Given the description of an element on the screen output the (x, y) to click on. 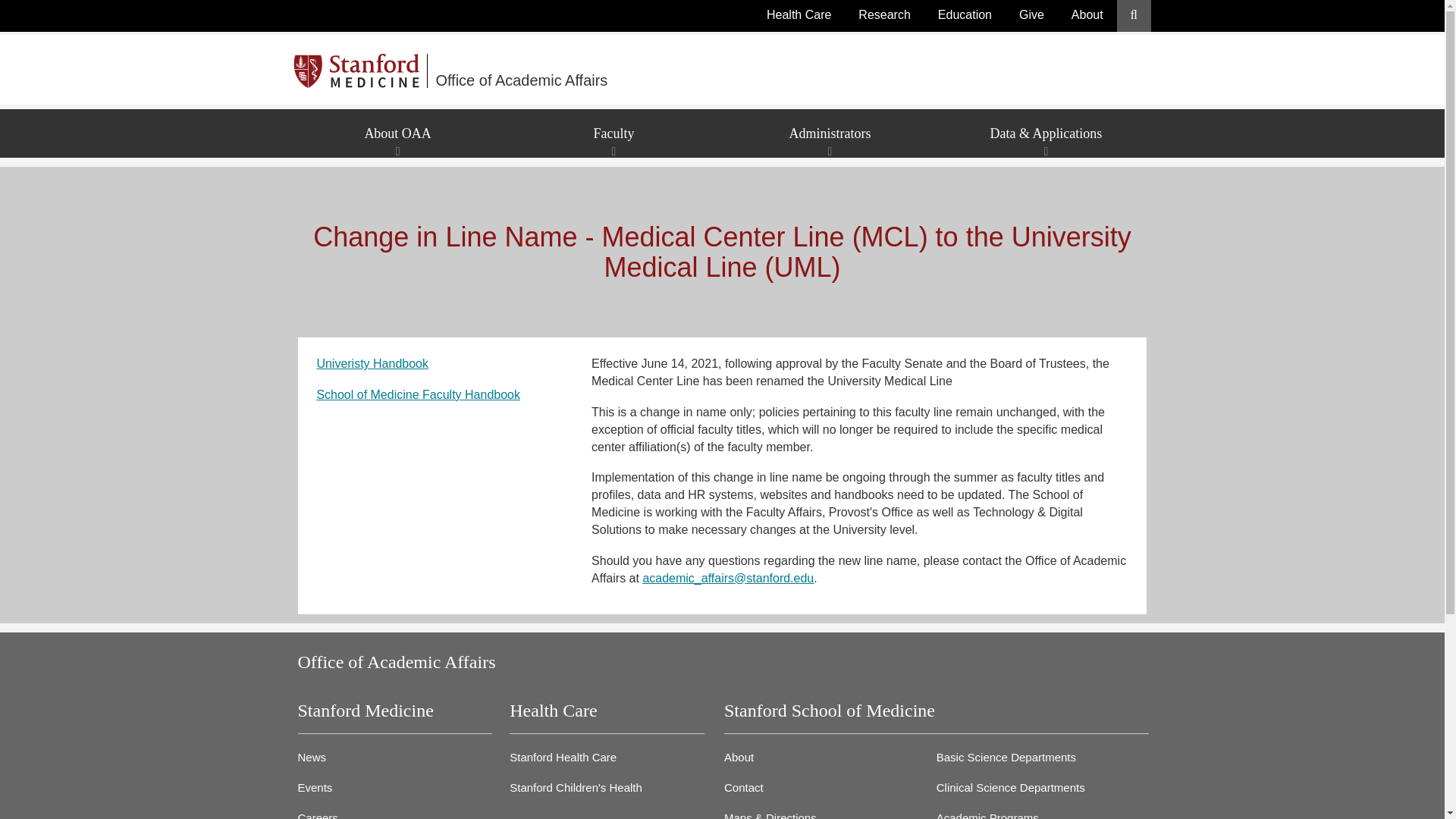
Stanford Medicine (361, 70)
Office of Academic Affairs (616, 71)
